Given the description of an element on the screen output the (x, y) to click on. 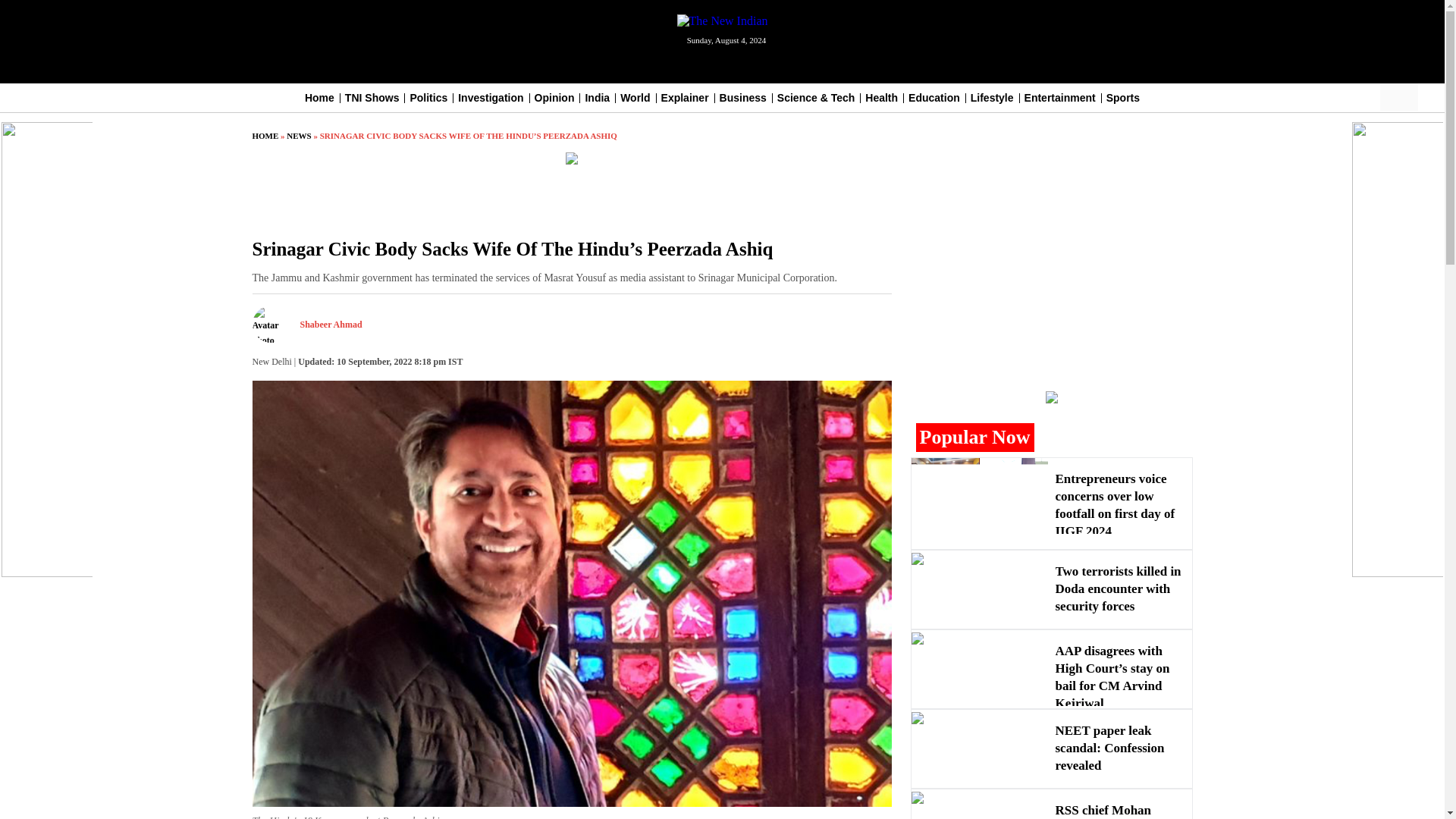
Entertainment (1060, 97)
TNI Shows (371, 97)
Business (743, 97)
GO (1410, 96)
Lifestyle (992, 97)
Education (933, 97)
Investigation (490, 97)
The New Indian (722, 20)
Home (319, 97)
The New Indian (722, 19)
Explainer (685, 97)
GO (1410, 96)
Sports (1123, 97)
Health (881, 97)
Opinion (554, 97)
